Given the description of an element on the screen output the (x, y) to click on. 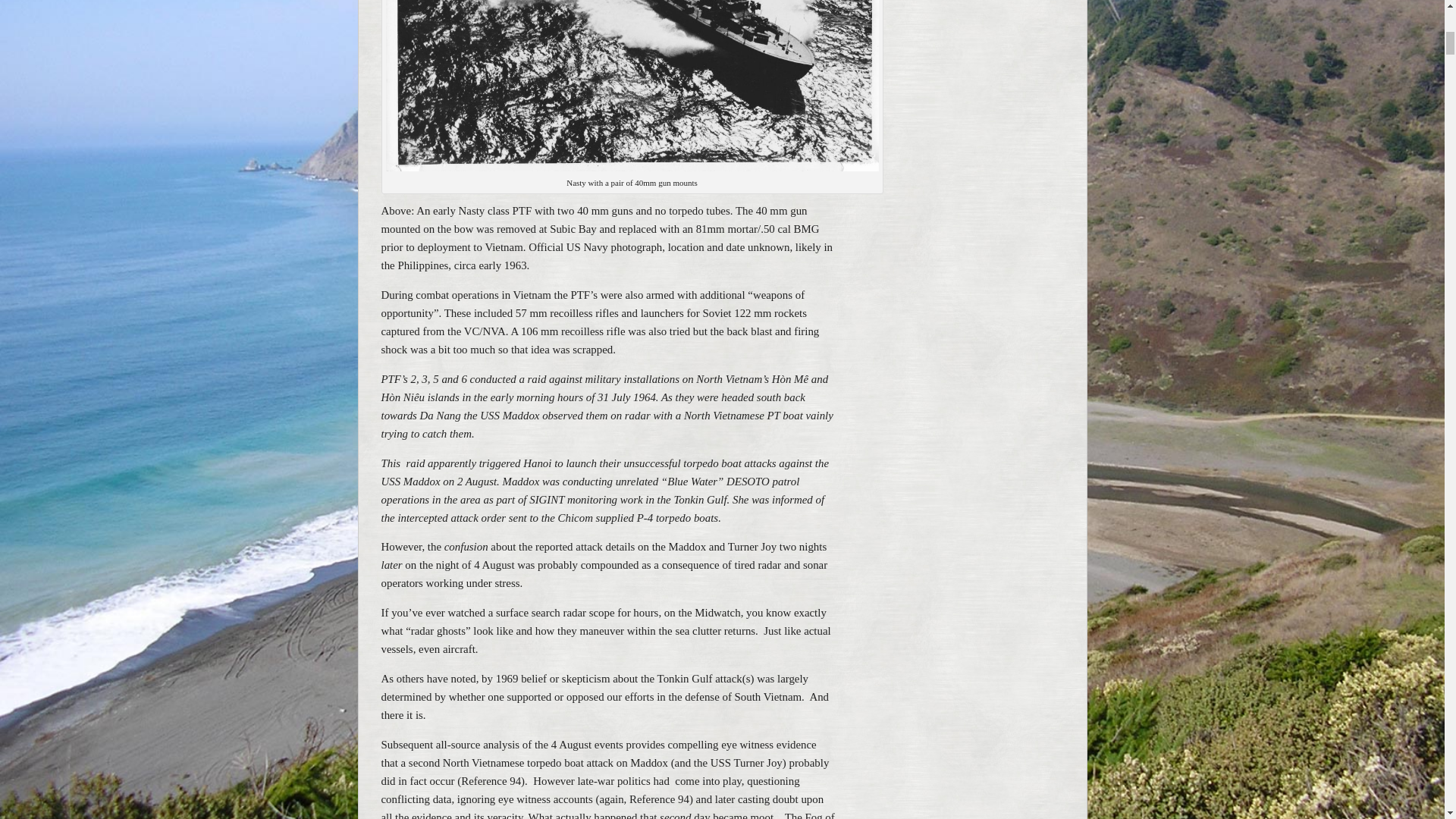
Nasty with a pair of 40mm gun mounts (631, 85)
